Given the description of an element on the screen output the (x, y) to click on. 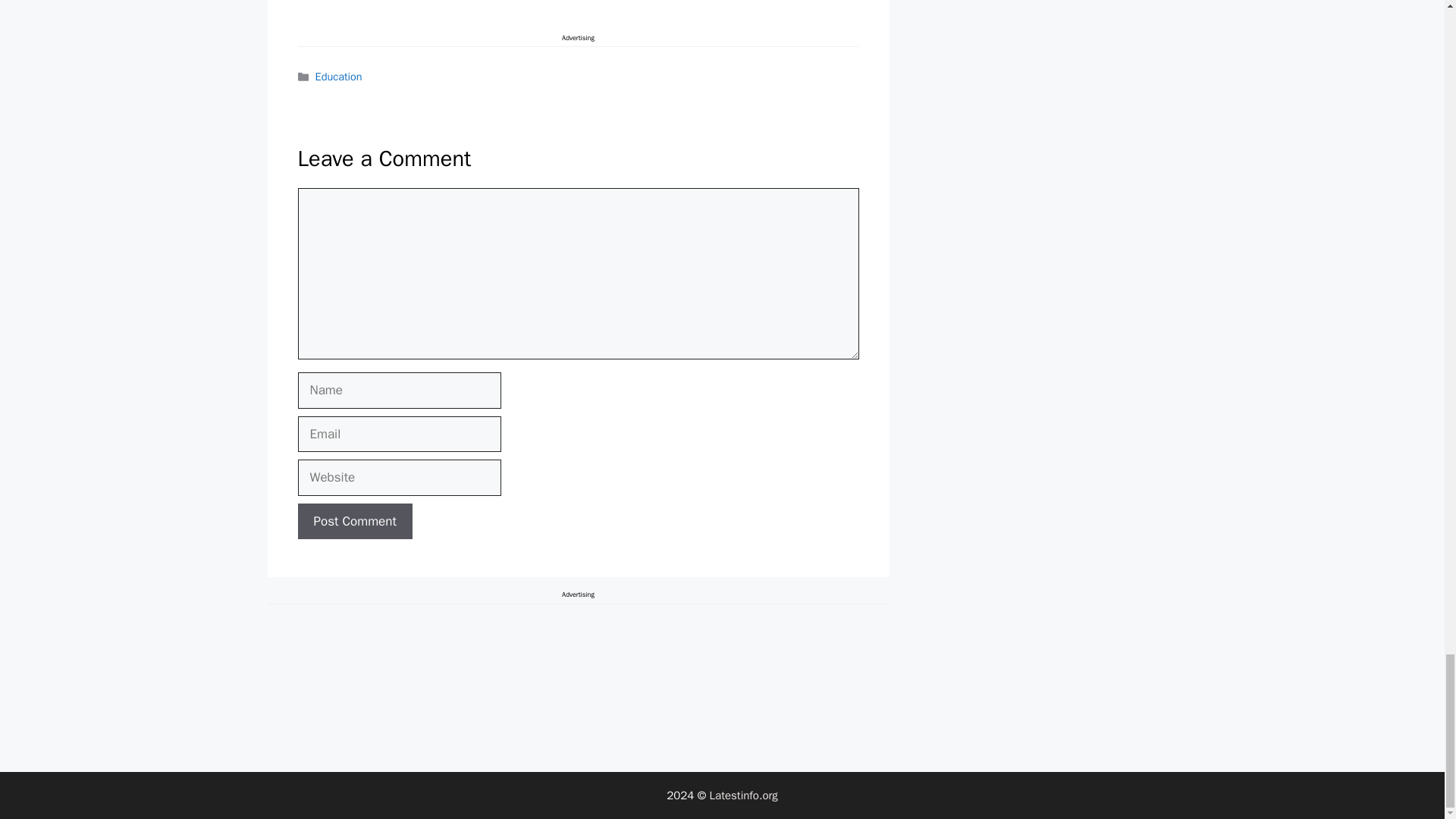
Education (338, 76)
Latestinfo.org (743, 795)
Post Comment (354, 521)
Post Comment (354, 521)
